Given the description of an element on the screen output the (x, y) to click on. 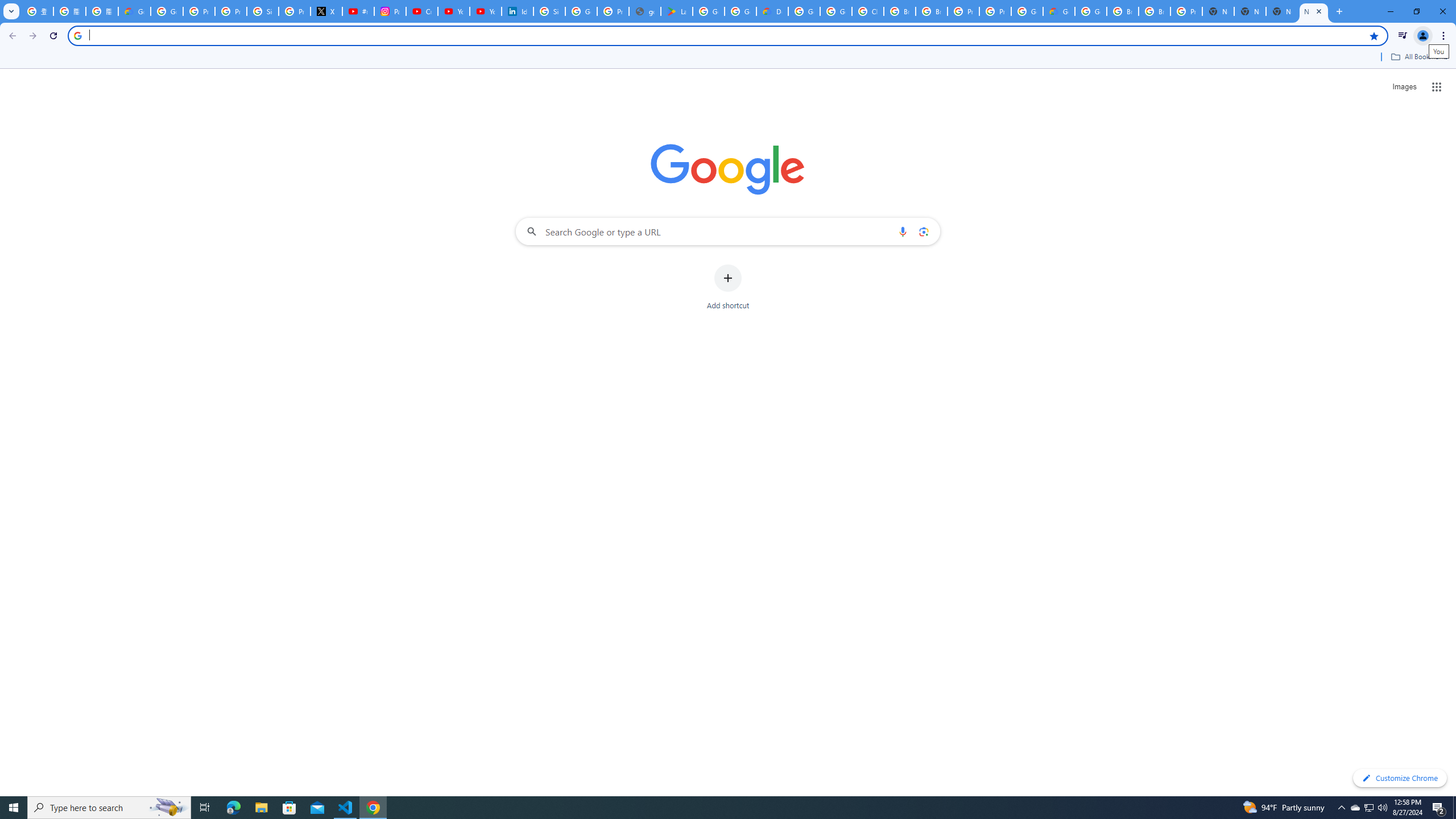
Privacy Help Center - Policies Help (230, 11)
Customize Chrome (1399, 778)
Google Cloud Platform (1027, 11)
New Tab (1217, 11)
YouTube Culture & Trends - YouTube Top 10, 2021 (485, 11)
Sign in - Google Accounts (262, 11)
Browse Chrome as a guest - Computer - Google Chrome Help (899, 11)
Browse Chrome as a guest - Computer - Google Chrome Help (1123, 11)
